Given the description of an element on the screen output the (x, y) to click on. 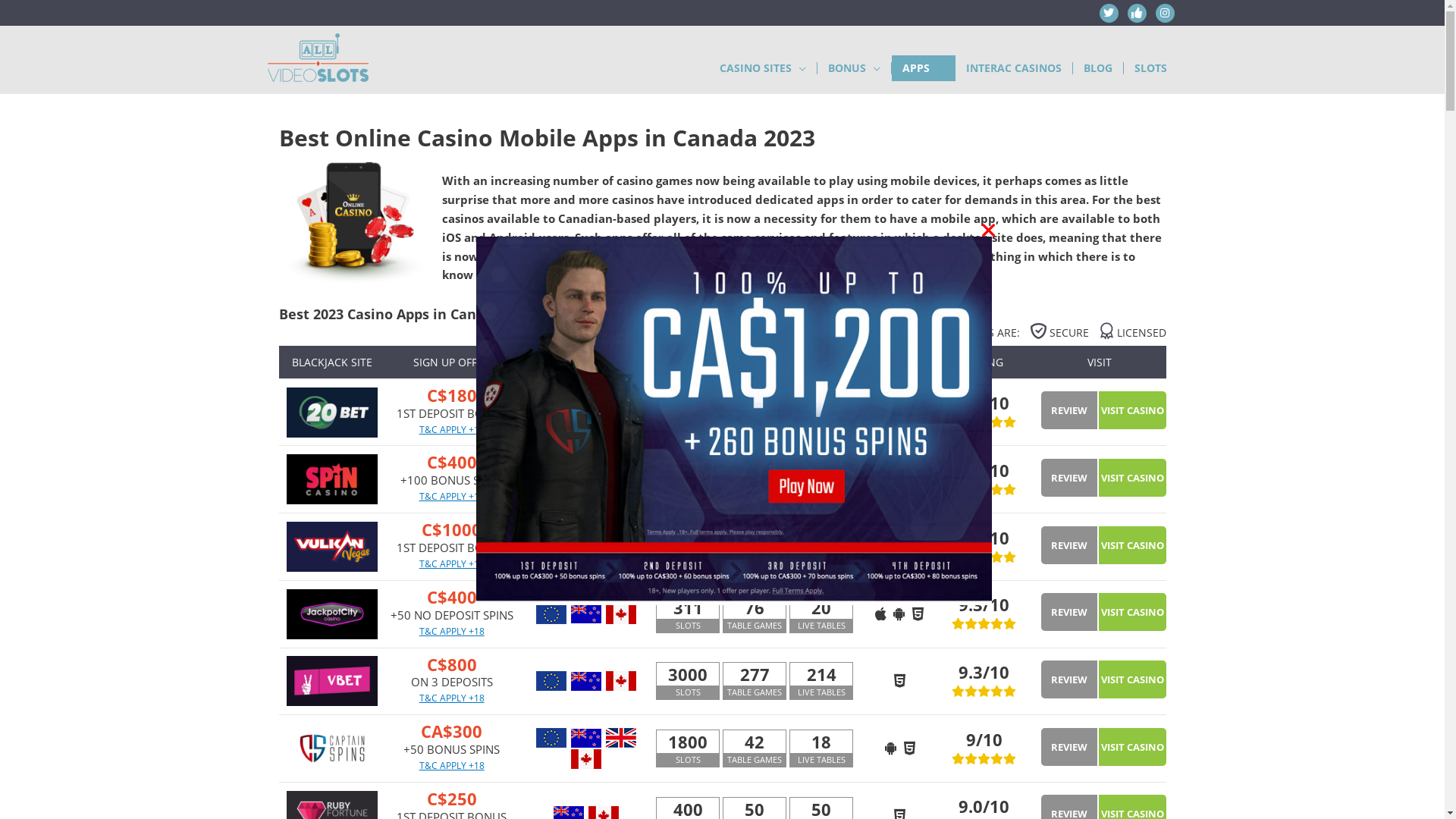
REVIEW Element type: text (1069, 679)
BONUS Element type: text (854, 68)
VISIT CASINO Element type: text (1132, 611)
CASINO SITES Element type: text (762, 68)
VISIT CASINO Element type: text (1132, 477)
T&C APPLY +18 Element type: text (451, 563)
VISIT CASINO Element type: text (1132, 746)
SLOTS Element type: text (1150, 68)
VISIT CASINO Element type: text (1132, 545)
VISIT CASINO Element type: text (1132, 410)
REVIEW Element type: text (1069, 410)
T&C APPLY +18 Element type: text (451, 495)
REVIEW Element type: text (1069, 611)
REVIEW Element type: text (1069, 477)
VISIT CASINO Element type: text (1132, 679)
REVIEW Element type: text (1069, 746)
T&C APPLY +18 Element type: text (451, 630)
T&C APPLY +18 Element type: text (451, 429)
APPS Element type: text (923, 68)
BLOG Element type: text (1097, 68)
T&C APPLY +18 Element type: text (451, 697)
REVIEW Element type: text (1069, 545)
T&C APPLY +18 Element type: text (451, 765)
INTERAC CASINOS Element type: text (1014, 68)
